Given the description of an element on the screen output the (x, y) to click on. 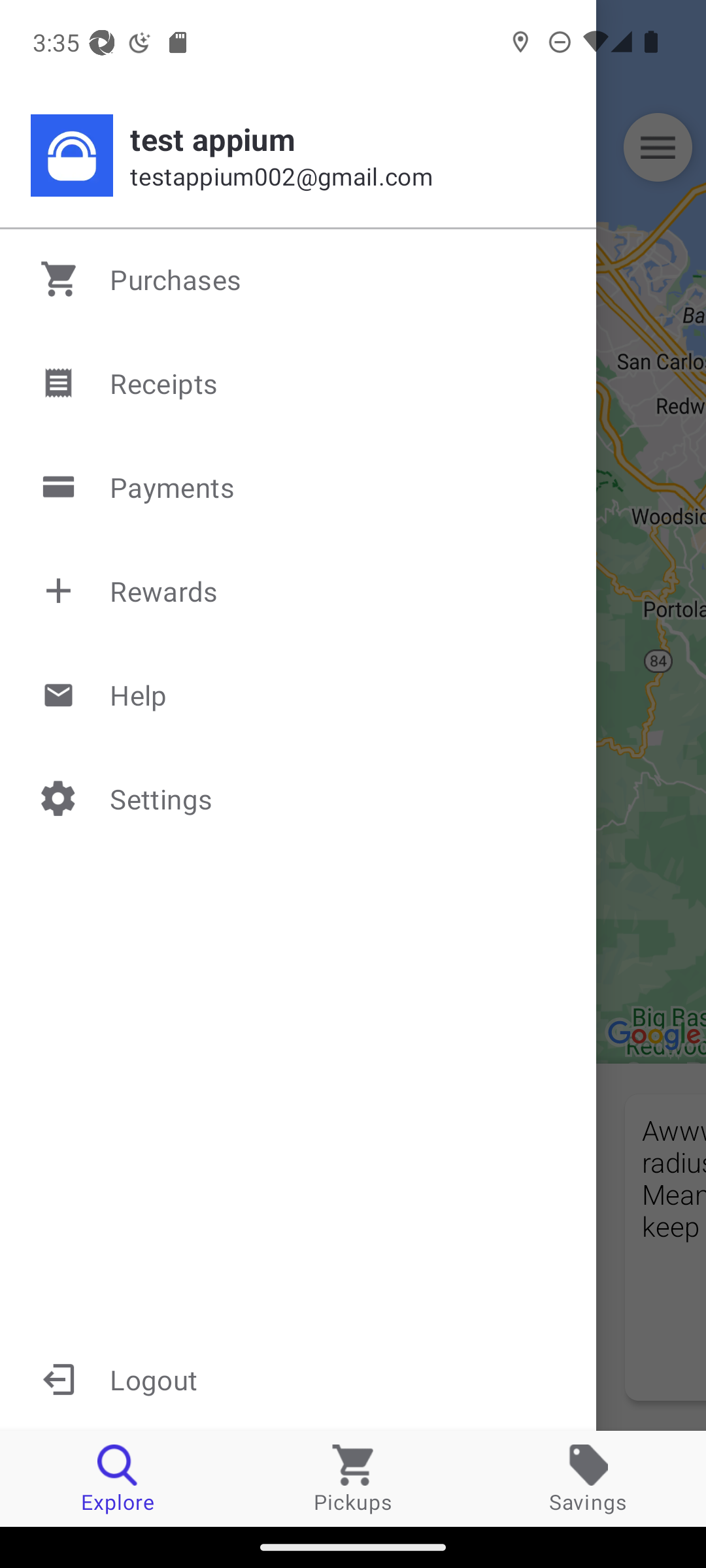
Purchases (299, 278)
Receipts (299, 382)
Payments (299, 487)
Rewards (299, 590)
Help (299, 694)
Settings (299, 797)
Logout (297, 1379)
Pickups (352, 1478)
Savings (588, 1478)
